Given the description of an element on the screen output the (x, y) to click on. 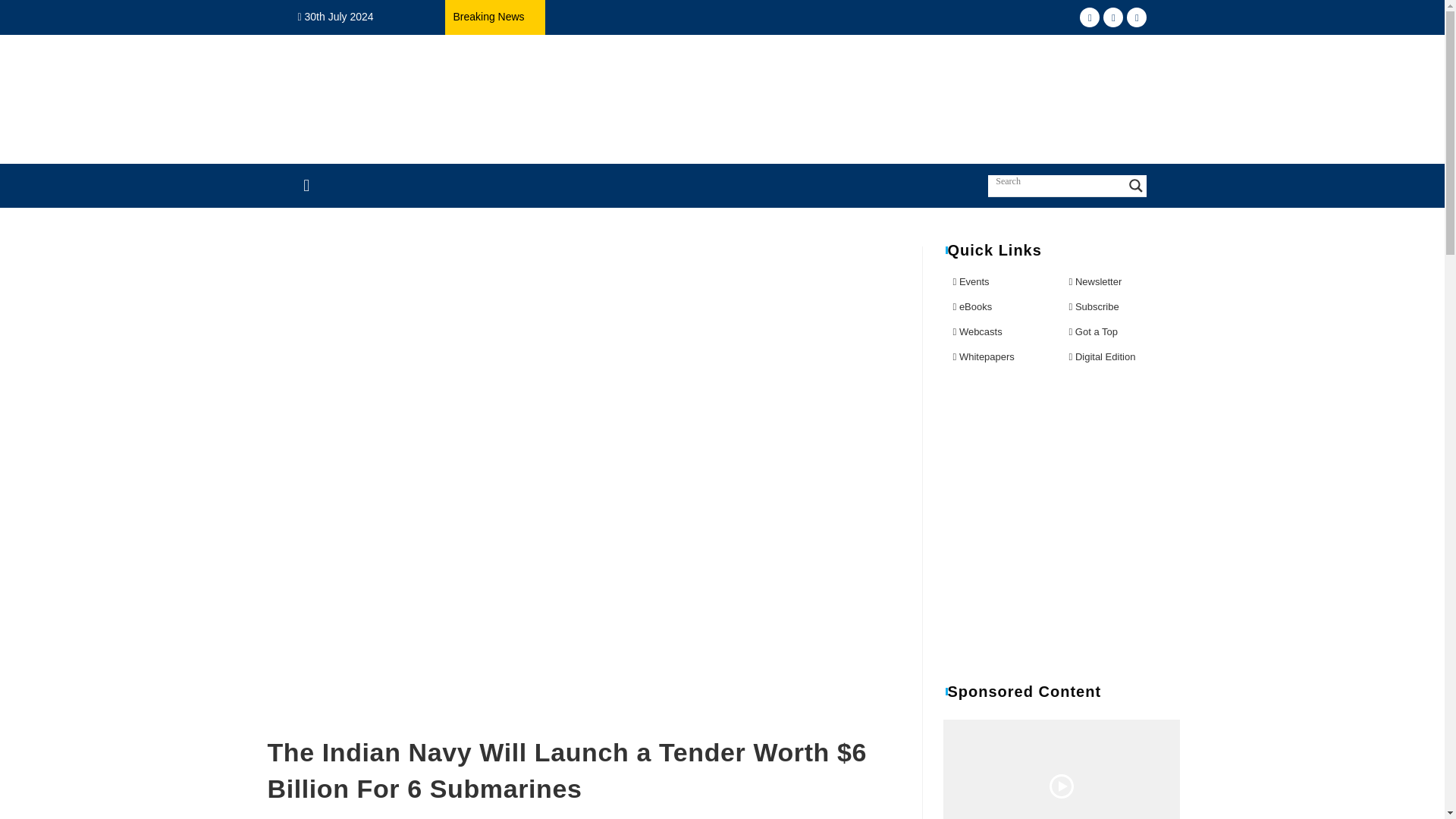
092f6473-9a0d-4afd-b406-94600dd8d010 (758, 99)
